Given the description of an element on the screen output the (x, y) to click on. 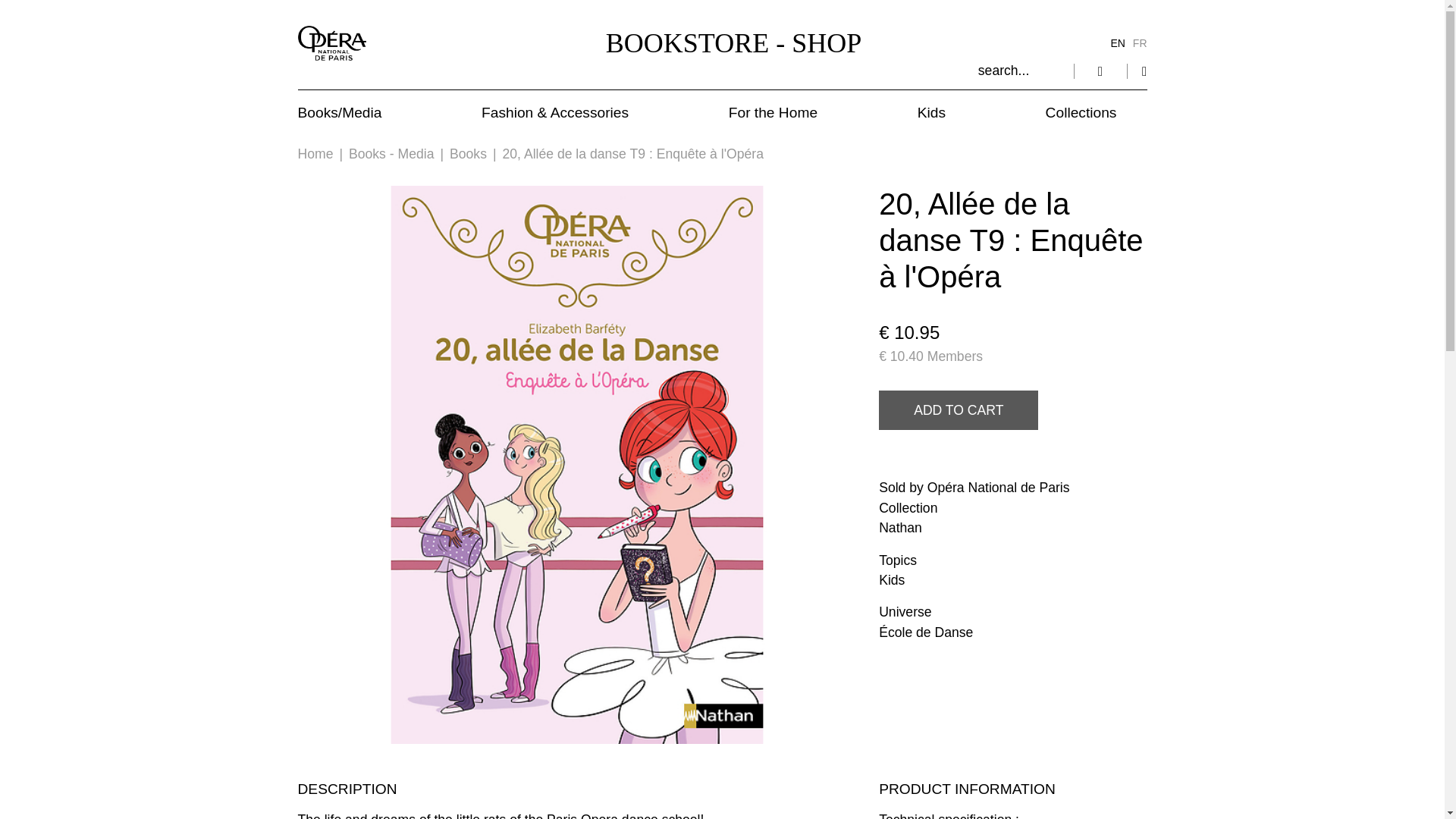
EN (1113, 42)
Your account (1100, 70)
BOOKSTORE - SHOP (733, 43)
FR (1136, 42)
Visit the Opera national de Paris website (331, 42)
